Given the description of an element on the screen output the (x, y) to click on. 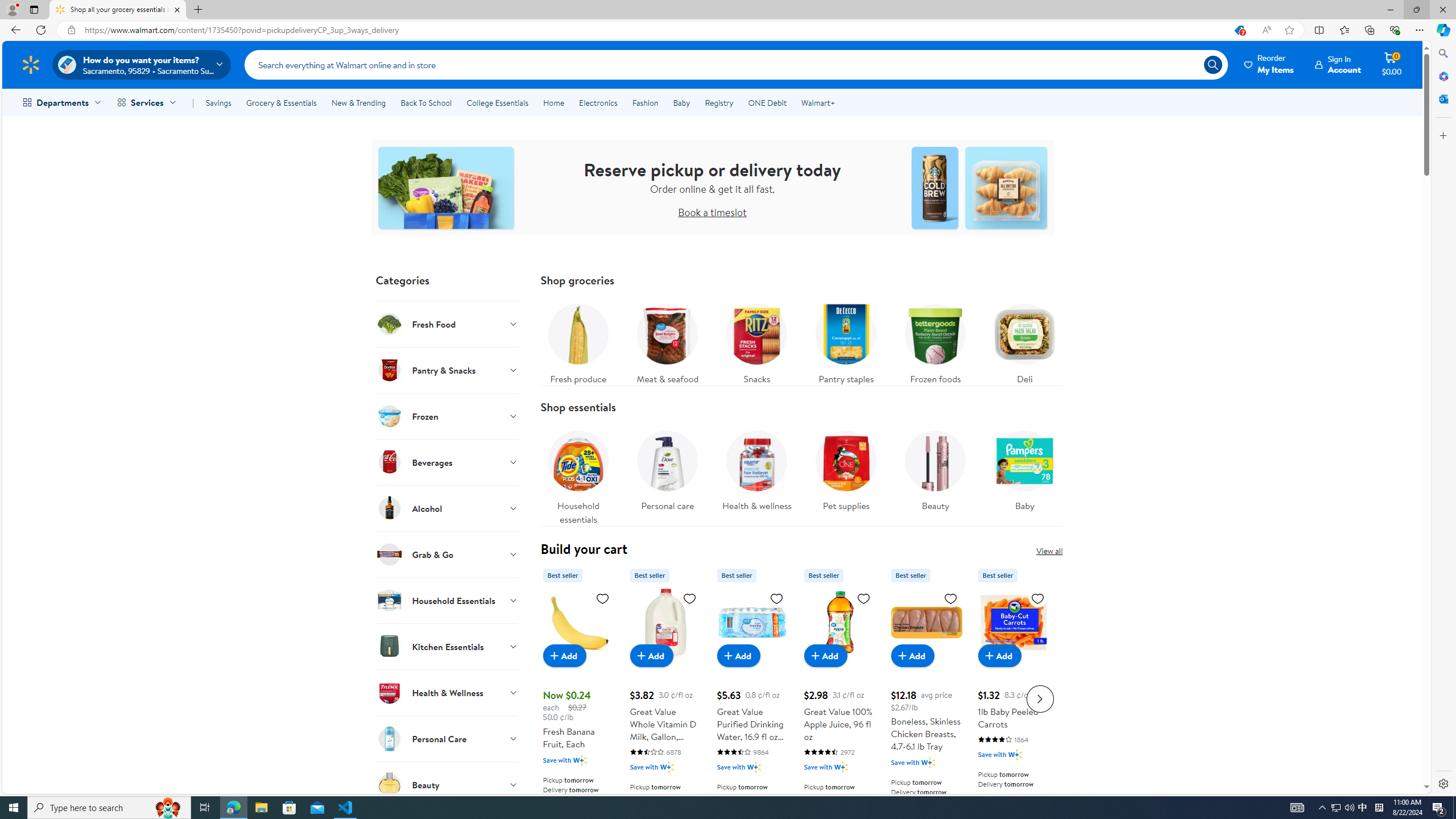
Pet supplies (845, 467)
Add to cart - 1lb Baby Peeled Carrots (999, 655)
Deli (1024, 340)
Search icon (1212, 64)
